Given the description of an element on the screen output the (x, y) to click on. 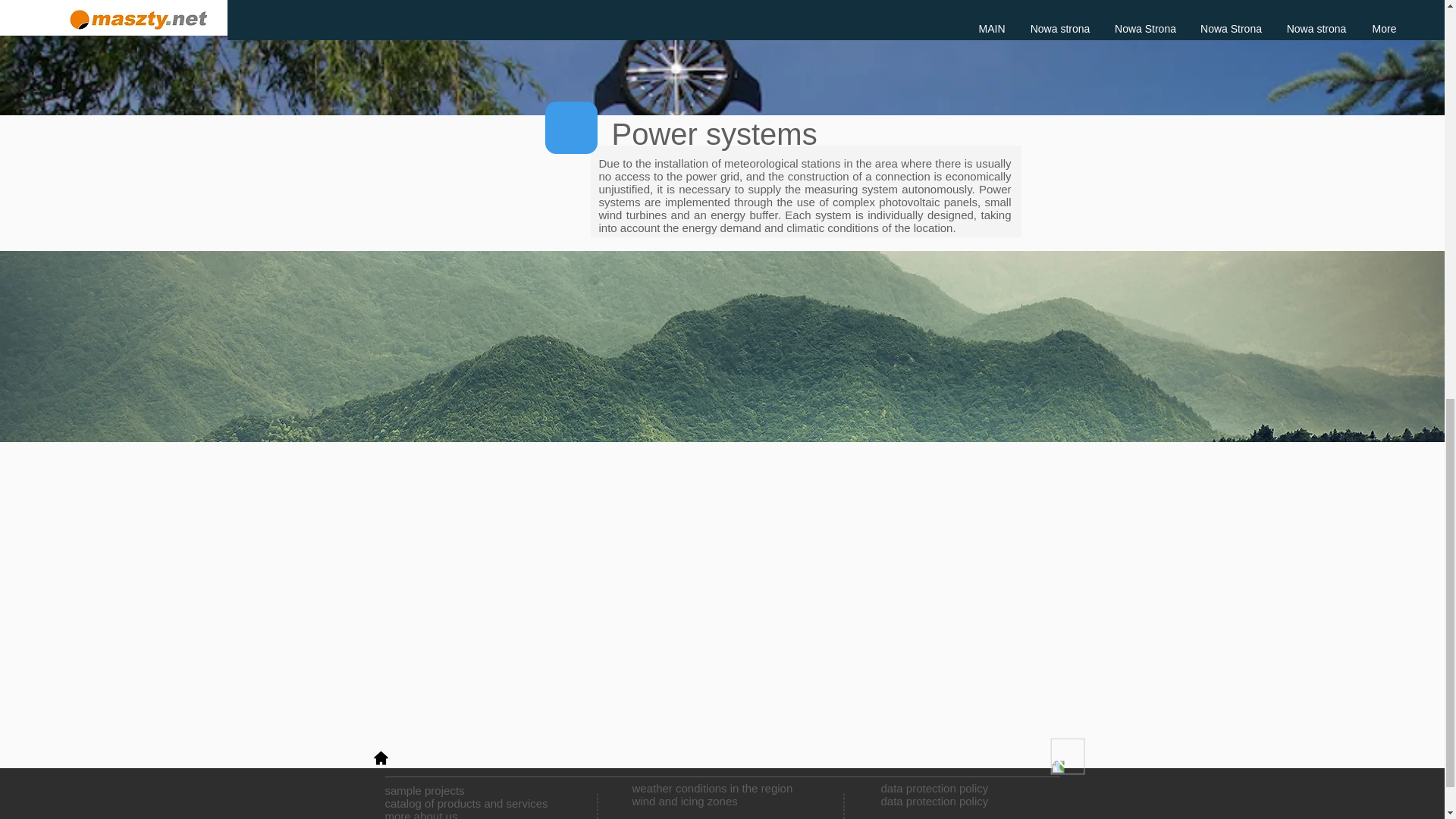
weather conditions in the region (712, 788)
sample projects (424, 789)
catalog of products and services (934, 794)
more about us (466, 802)
wind and icing zones (421, 814)
